Given the description of an element on the screen output the (x, y) to click on. 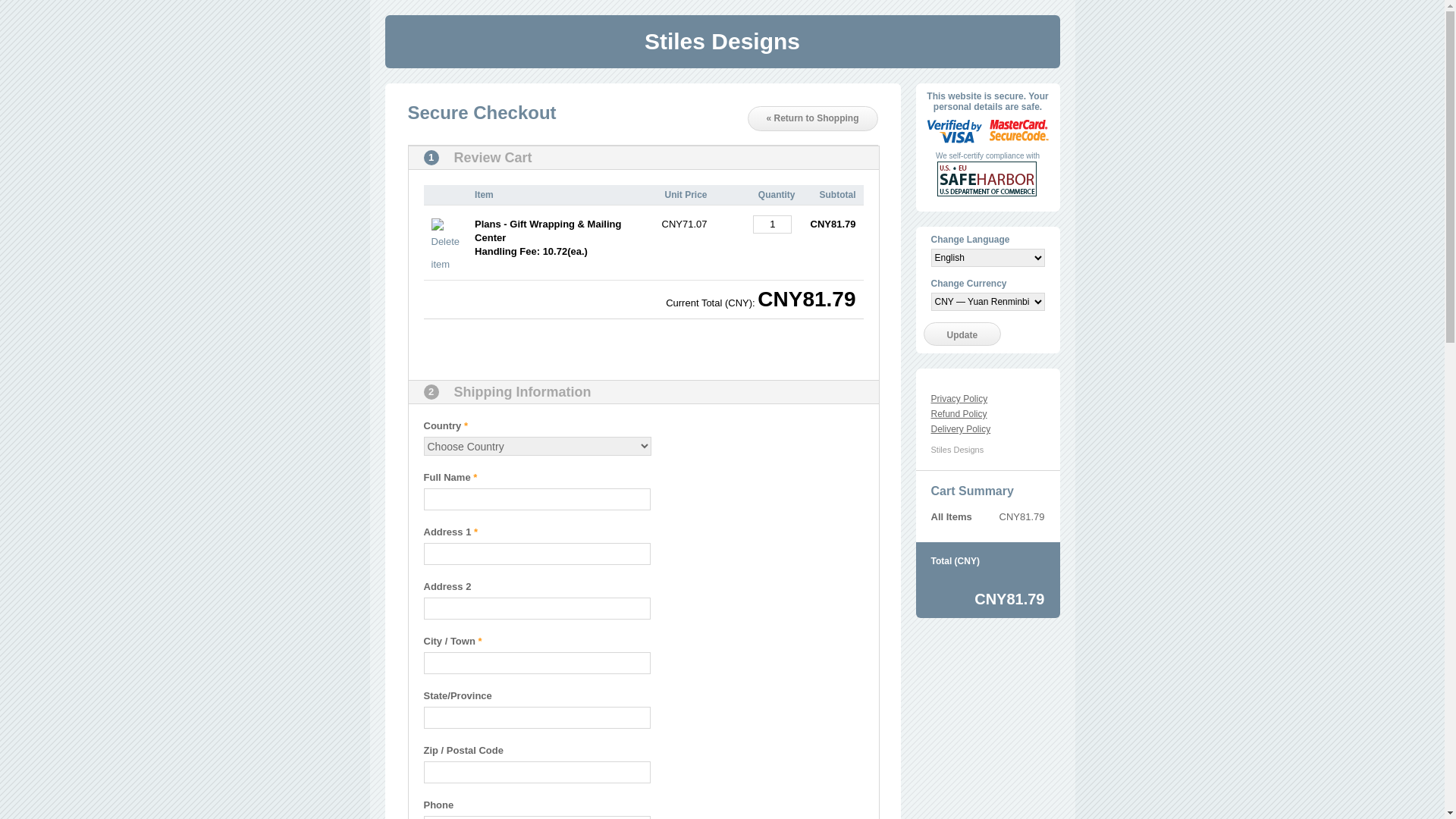
Refund Policy Element type: text (959, 413)
Privacy Policy Element type: text (959, 398)
Update Element type: text (962, 333)
We self-certify compliance with Element type: text (987, 155)
Delivery Policy Element type: text (961, 428)
